Given the description of an element on the screen output the (x, y) to click on. 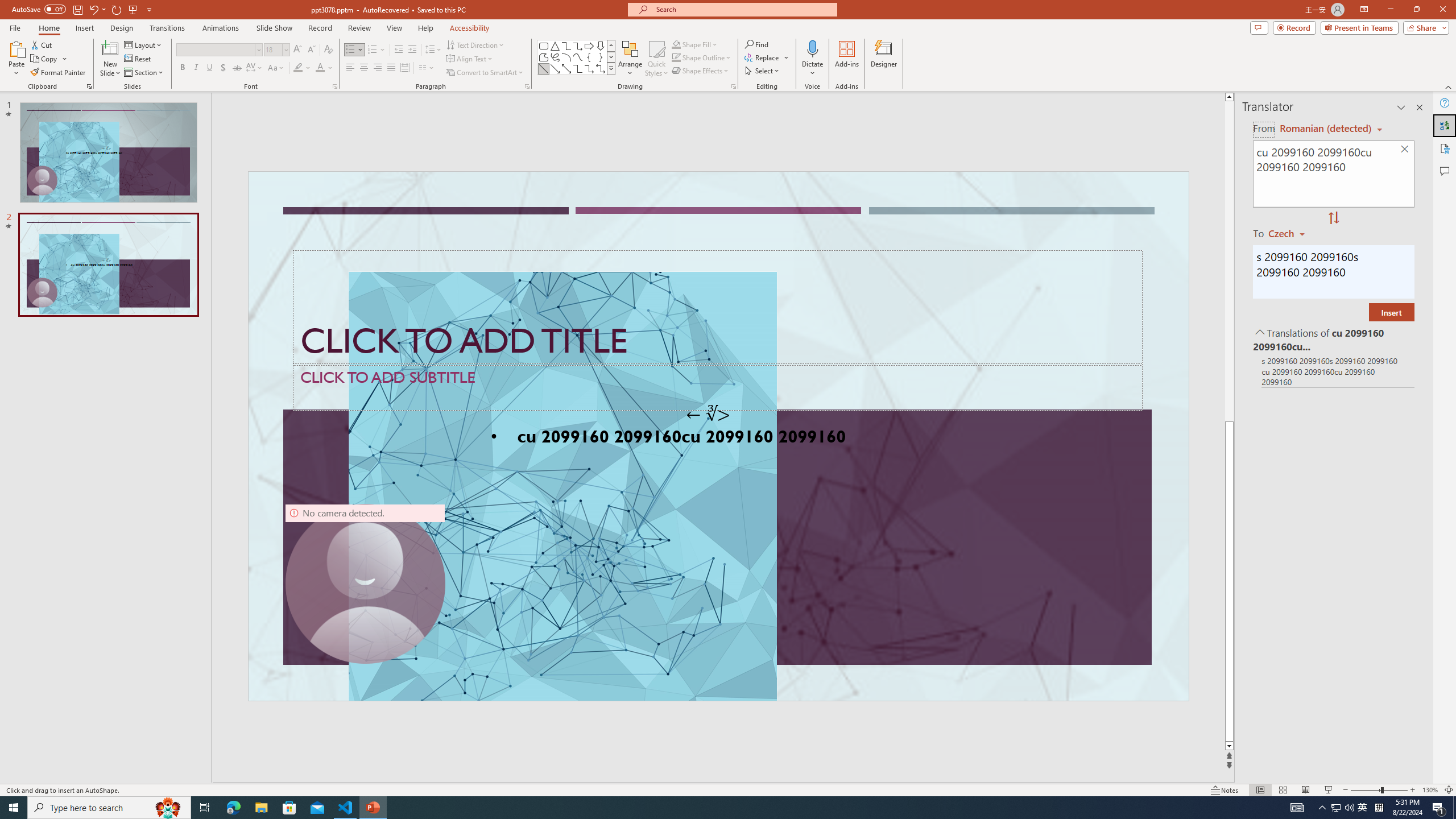
Czech (1291, 232)
